Given the description of an element on the screen output the (x, y) to click on. 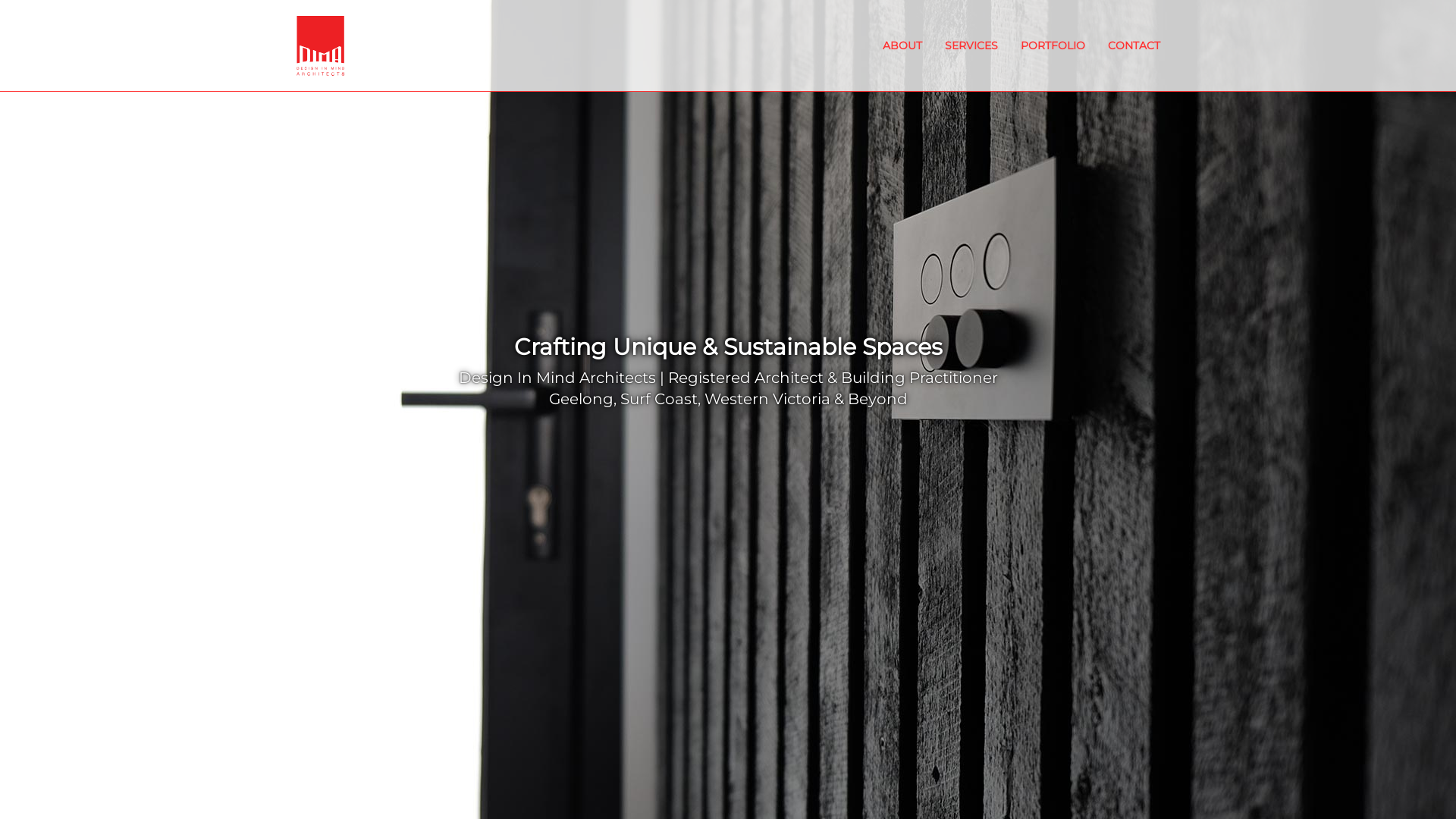
ABOUT Element type: text (902, 45)
CONTACT Element type: text (1133, 45)
PORTFOLIO Element type: text (1052, 45)
SERVICES Element type: text (971, 45)
